Given the description of an element on the screen output the (x, y) to click on. 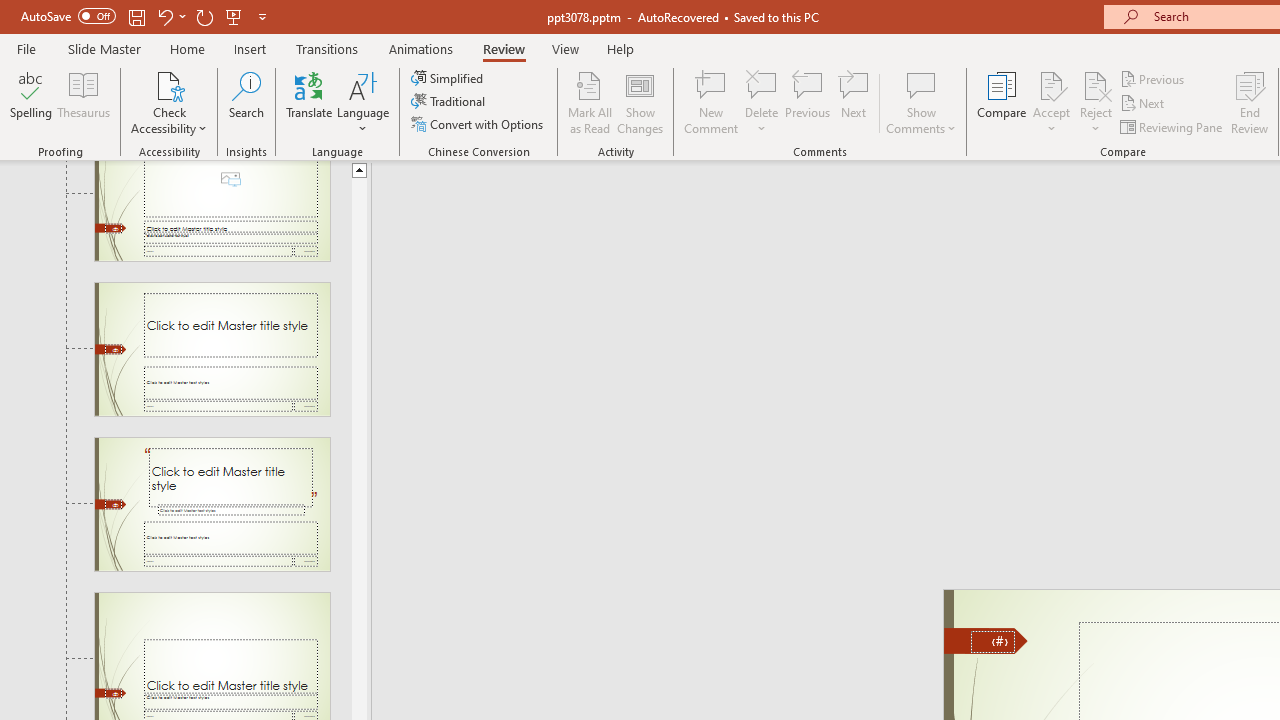
Undo <ApplyStyleToDoc>b__0 (290, 31)
